Given the description of an element on the screen output the (x, y) to click on. 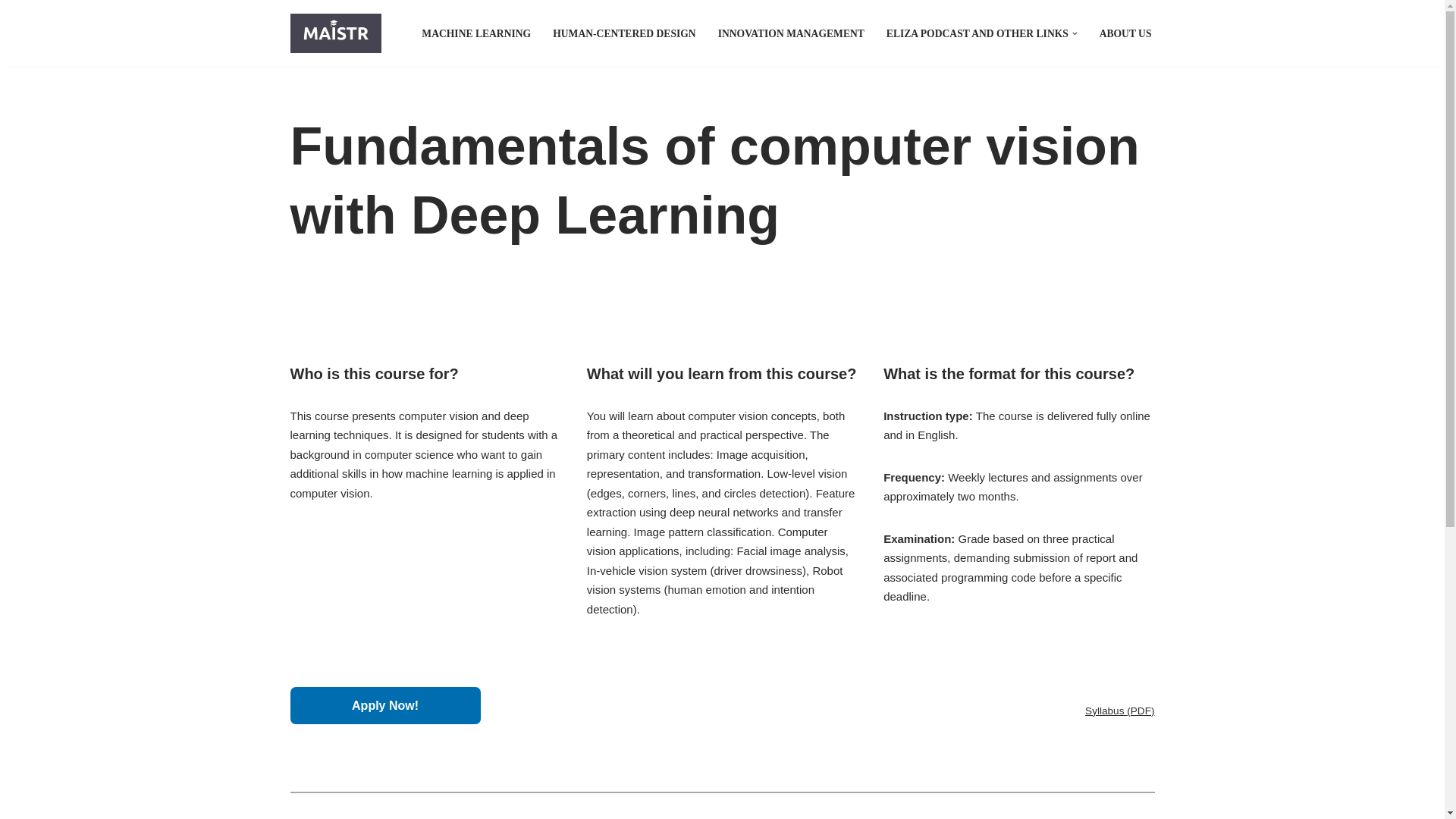
INNOVATION MANAGEMENT (790, 32)
MACHINE LEARNING (476, 32)
Apply Now! (384, 705)
HUMAN-CENTERED DESIGN (624, 32)
ABOUT US (1125, 32)
ELIZA PODCAST AND OTHER LINKS (977, 32)
Skip to content (11, 31)
